Given the description of an element on the screen output the (x, y) to click on. 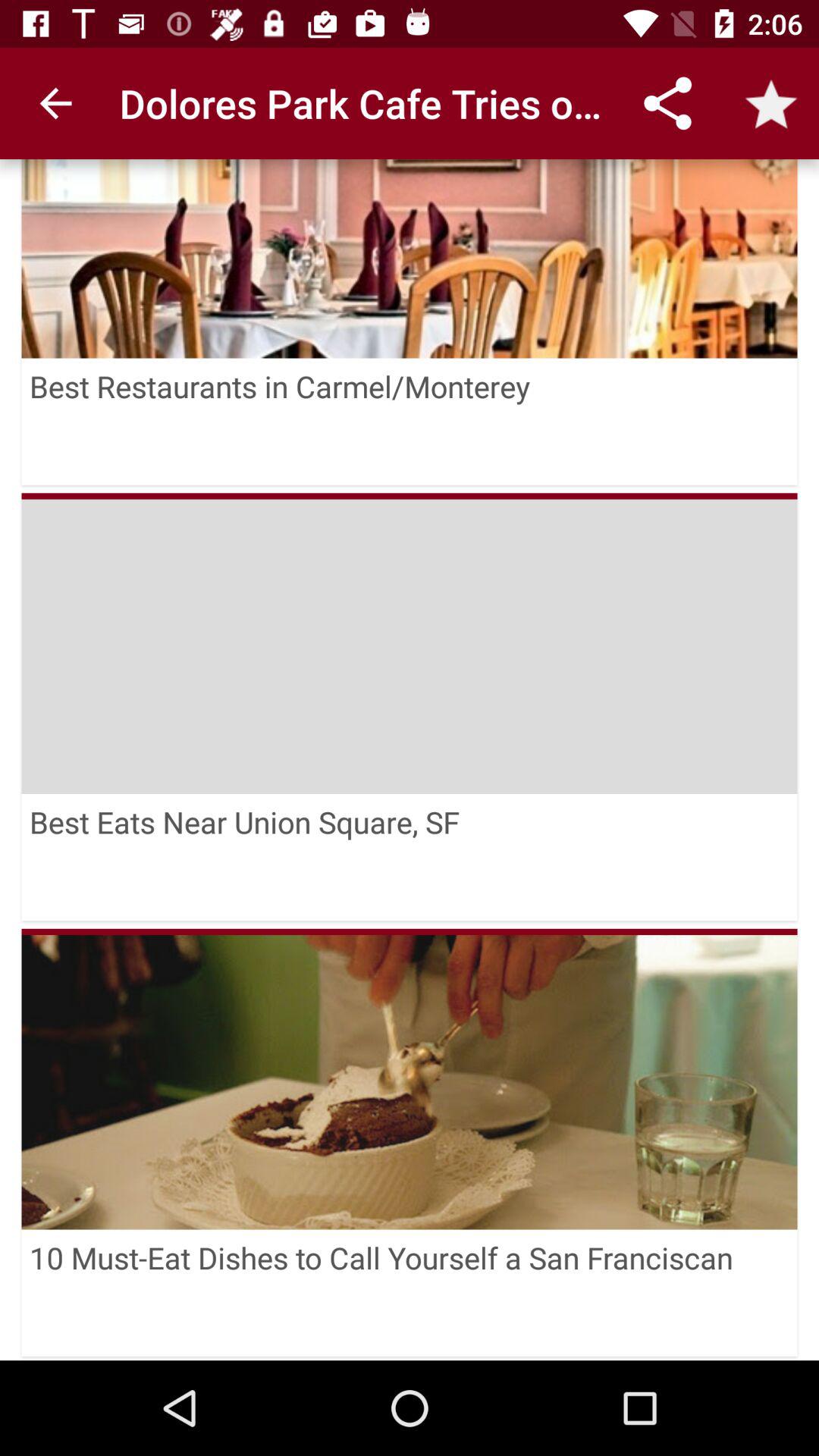
open icon above the best restaurants in icon (409, 258)
